Given the description of an element on the screen output the (x, y) to click on. 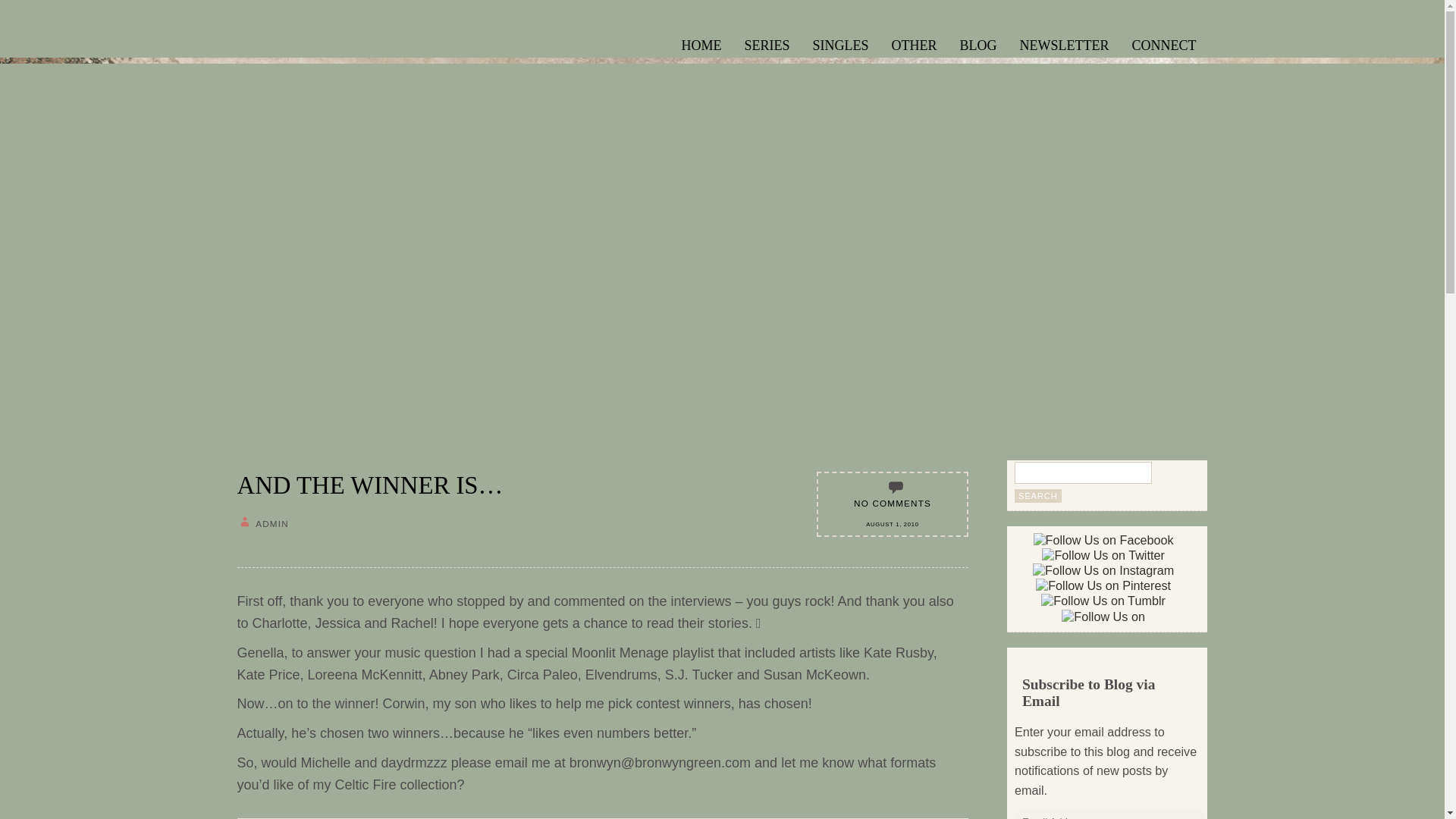
OTHER (914, 43)
BLOG (979, 43)
Follow Us on Pinterest (1102, 585)
Follow Us on Facebook (1103, 540)
Follow Us on Tumblr (1103, 600)
Search (1037, 495)
NO COMMENTS (892, 502)
NEWSLETTER (1065, 43)
BRONWYN GREEN (313, 58)
Follow Us on Instagram (1102, 570)
SERIES (766, 43)
Follow Us on Twitter (1102, 554)
Follow Us on  (1102, 616)
HOME (700, 43)
AUGUST 1, 2010 (892, 523)
